Given the description of an element on the screen output the (x, y) to click on. 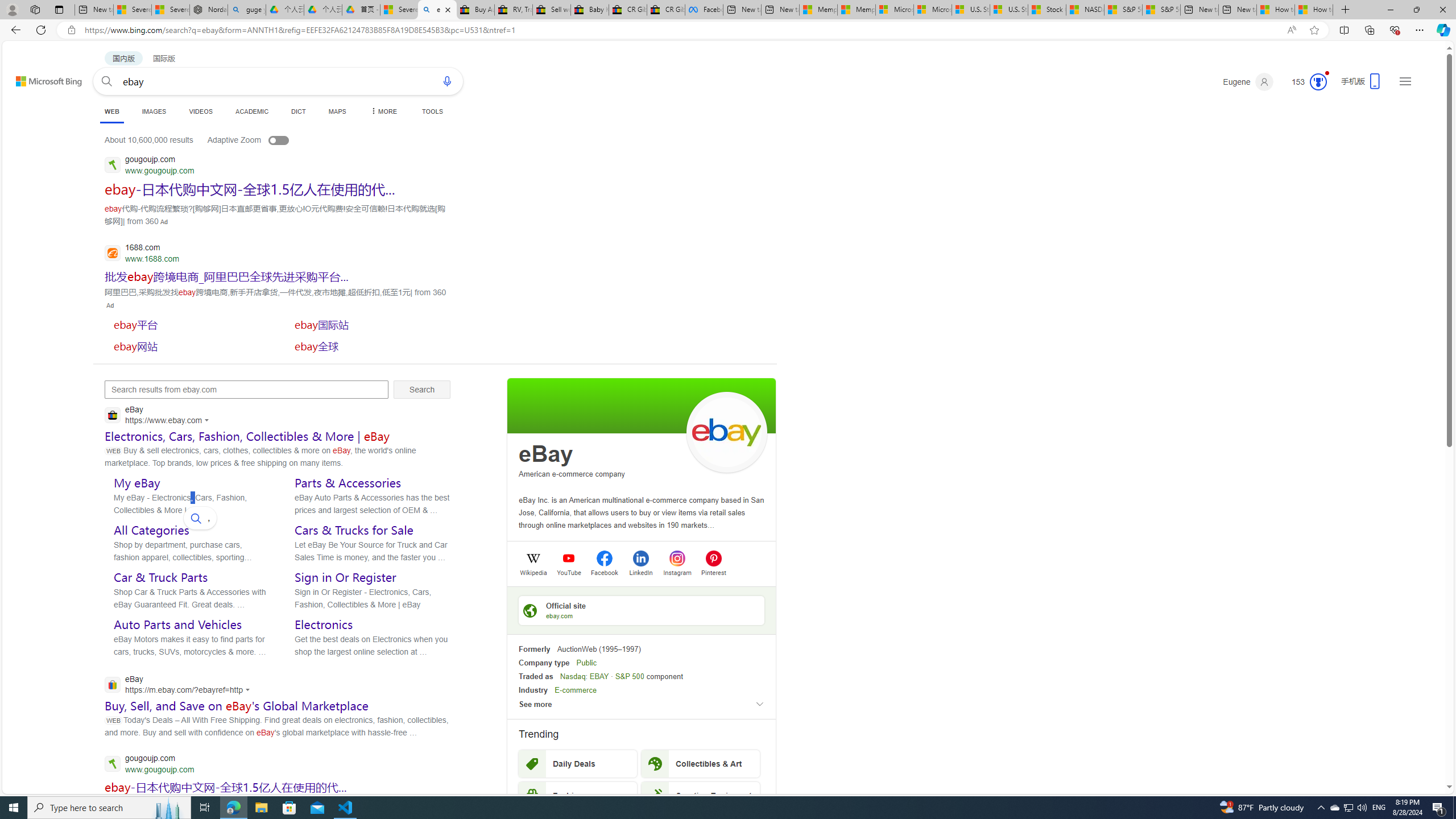
Company type (543, 662)
SERP,5712 (188, 324)
Fashion (577, 795)
Pinterest (713, 571)
Parts & Accessories (347, 482)
Dropdown Menu (382, 111)
Sporting Equipment (701, 795)
